Given the description of an element on the screen output the (x, y) to click on. 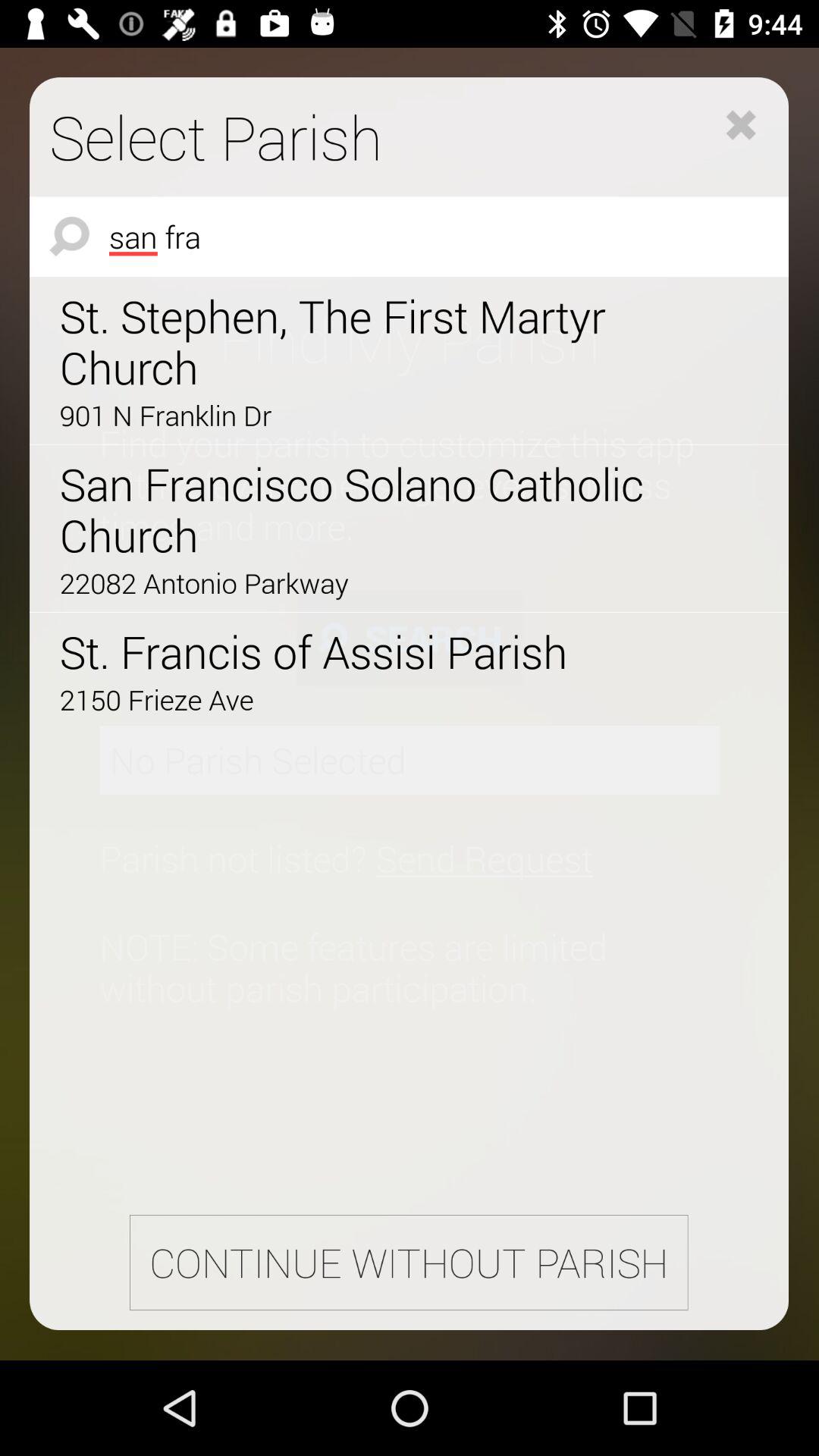
jump until continue without parish icon (408, 1262)
